Given the description of an element on the screen output the (x, y) to click on. 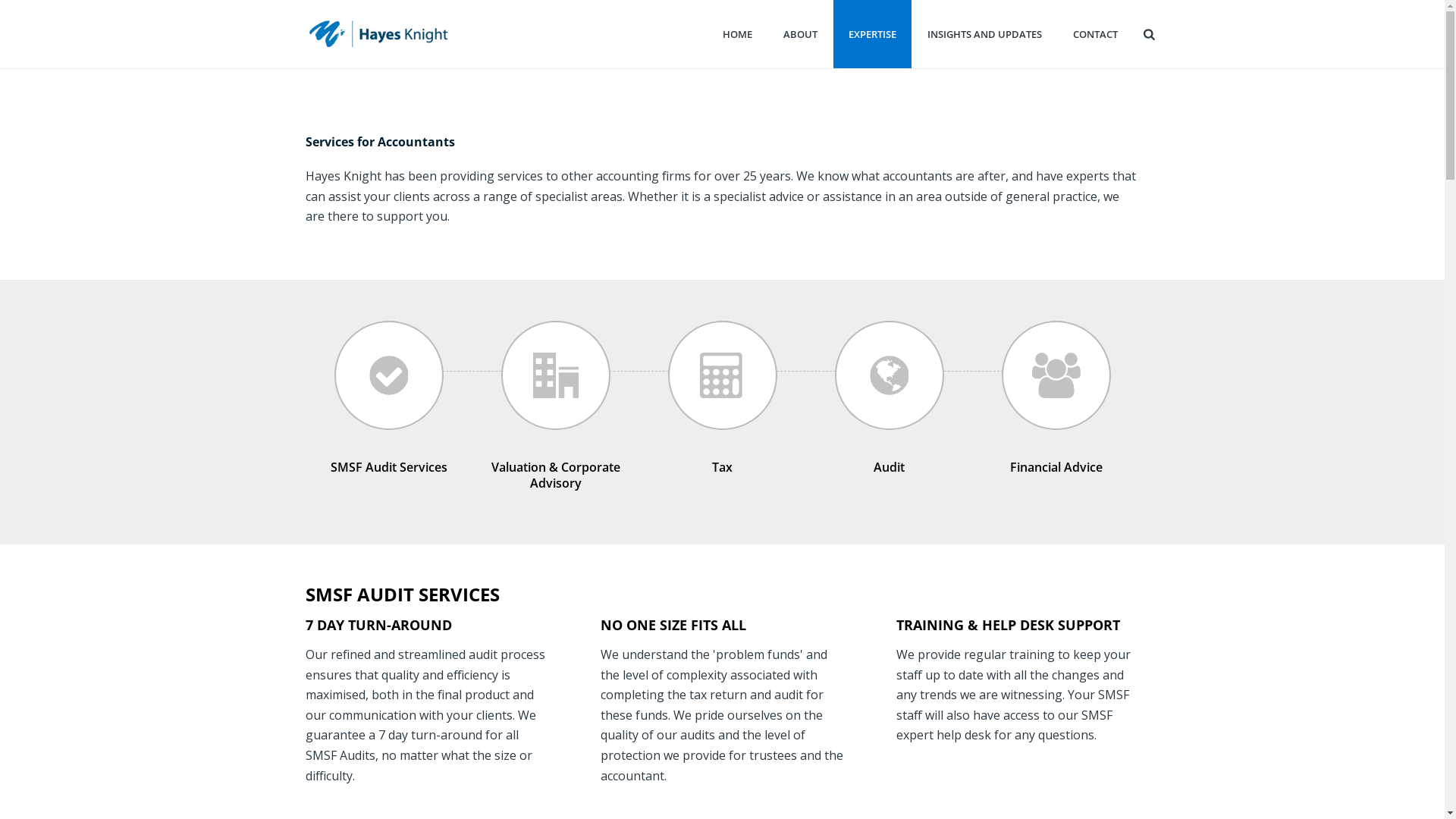
Financial Advice Element type: text (1056, 467)
EXPERTISE Element type: text (871, 34)
CONTACT Element type: text (1094, 34)
Valuation & Corporate Advisory Element type: text (555, 483)
INSIGHTS AND UPDATES Element type: text (983, 34)
SMSF Audit Services Element type: text (388, 467)
HOME Element type: text (736, 34)
Tax Element type: text (722, 467)
ABOUT Element type: text (799, 34)
Audit Element type: text (888, 467)
HKLogo Element type: hover (379, 34)
